Given the description of an element on the screen output the (x, y) to click on. 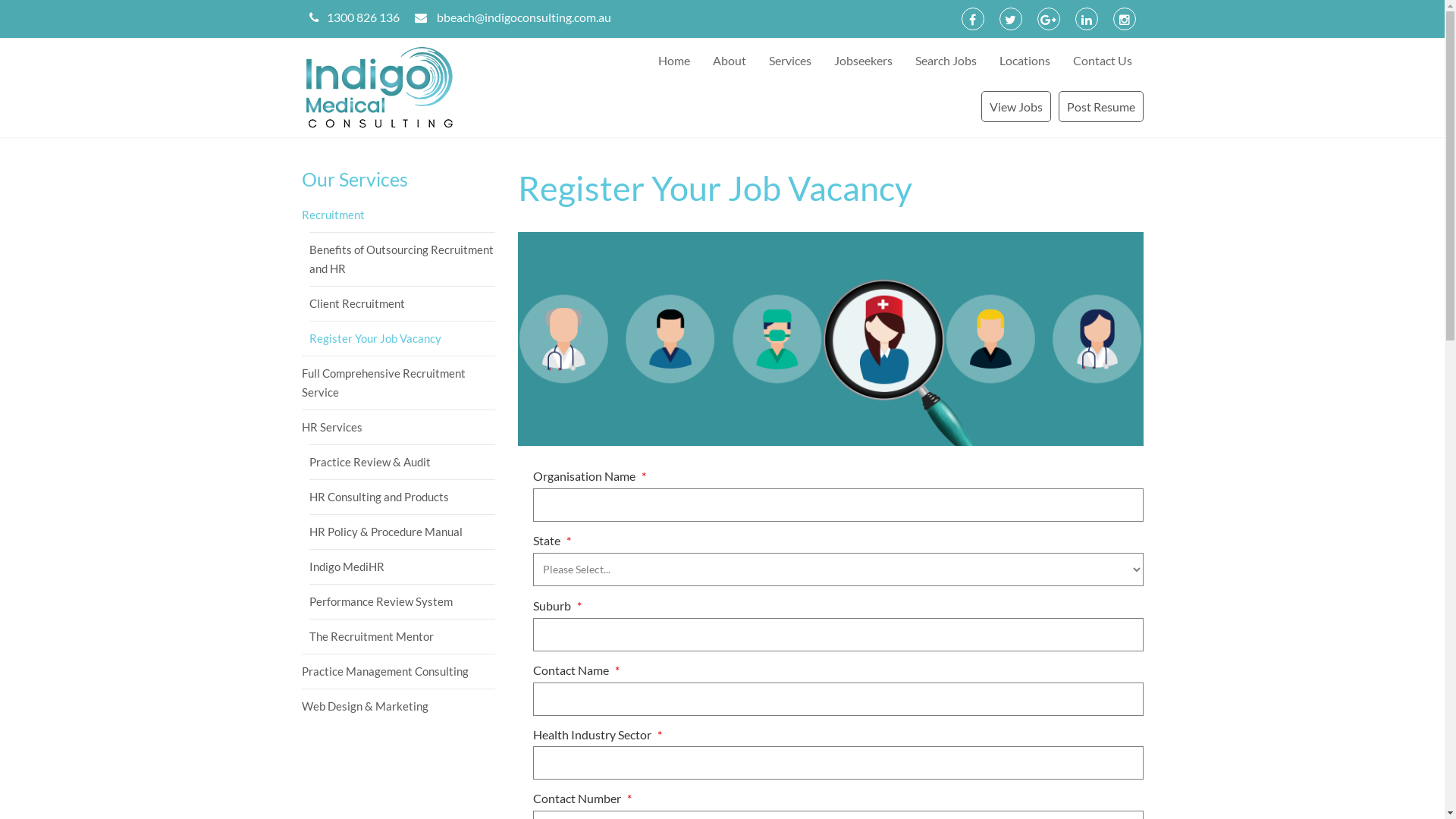
Indigo MediHR Element type: text (402, 566)
Recruitment Element type: text (398, 214)
Web Design & Marketing Element type: text (398, 705)
Practice Management Consulting Element type: text (398, 670)
Benefits of Outsourcing Recruitment and HR Element type: text (402, 258)
Locations Element type: text (1023, 60)
Services Element type: text (789, 60)
Practice Review & Audit Element type: text (402, 461)
1300 826 136 Element type: text (362, 16)
Jobseekers Element type: text (862, 60)
bbeach@indigoconsulting.com.au Element type: text (523, 16)
HR Policy & Procedure Manual Element type: text (402, 531)
Home Element type: text (673, 60)
Contact Us Element type: text (1102, 60)
Full Comprehensive Recruitment Service Element type: text (398, 382)
Performance Review System Element type: text (402, 600)
Post Resume Element type: text (1100, 106)
Client Recruitment Element type: text (402, 302)
The Recruitment Mentor Element type: text (402, 635)
Indigo Medical Consulting Element type: hover (398, 86)
Register Your Job Vacancy Element type: text (402, 337)
About Element type: text (728, 60)
Search Jobs Element type: text (945, 60)
View Jobs Element type: text (1016, 106)
Register Your Job Vacancy Element type: hover (829, 338)
HR Services Element type: text (398, 426)
HR Consulting and Products Element type: text (402, 496)
